Given the description of an element on the screen output the (x, y) to click on. 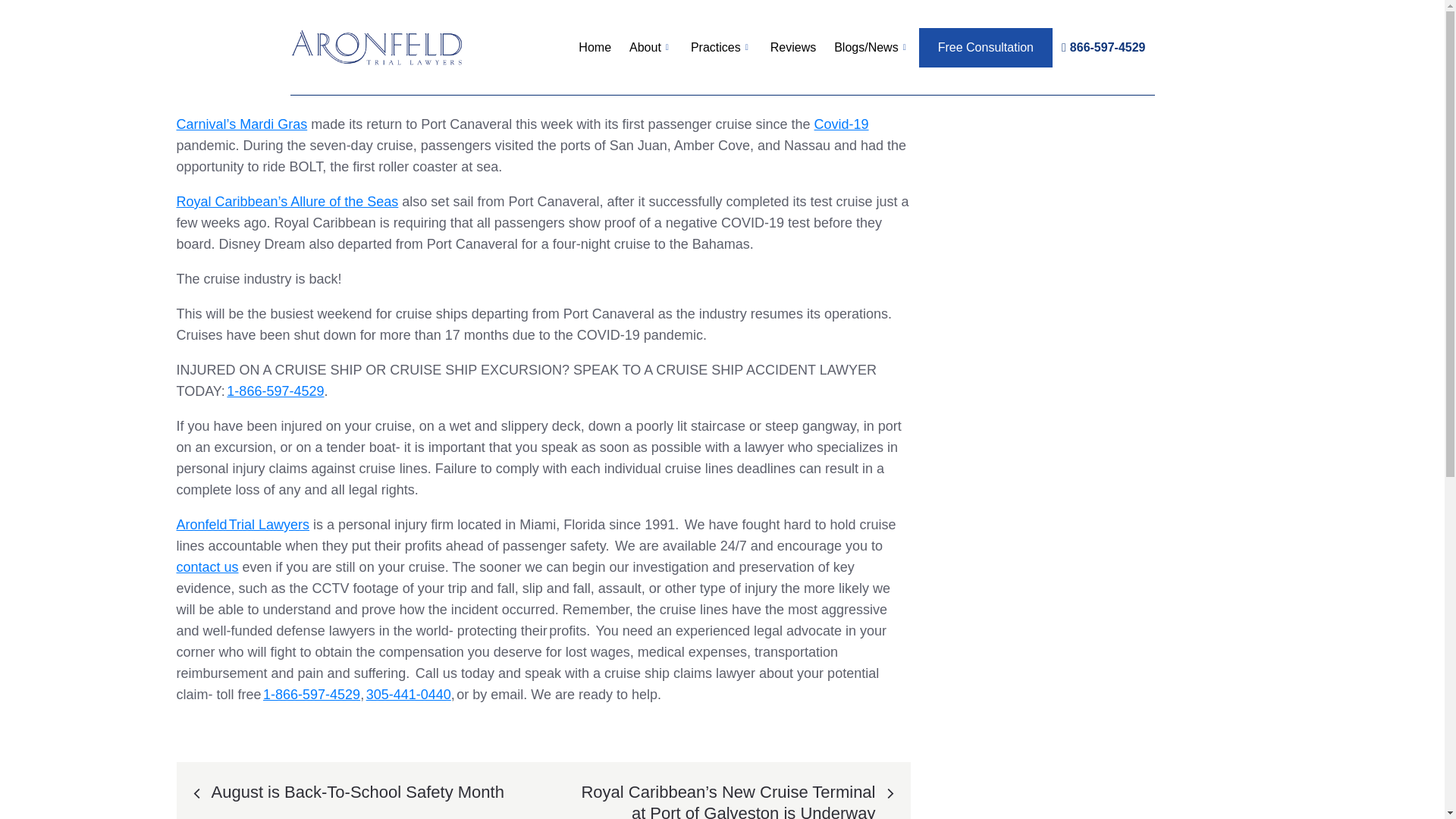
About (650, 47)
Practices (721, 47)
Home (594, 47)
